Given the description of an element on the screen output the (x, y) to click on. 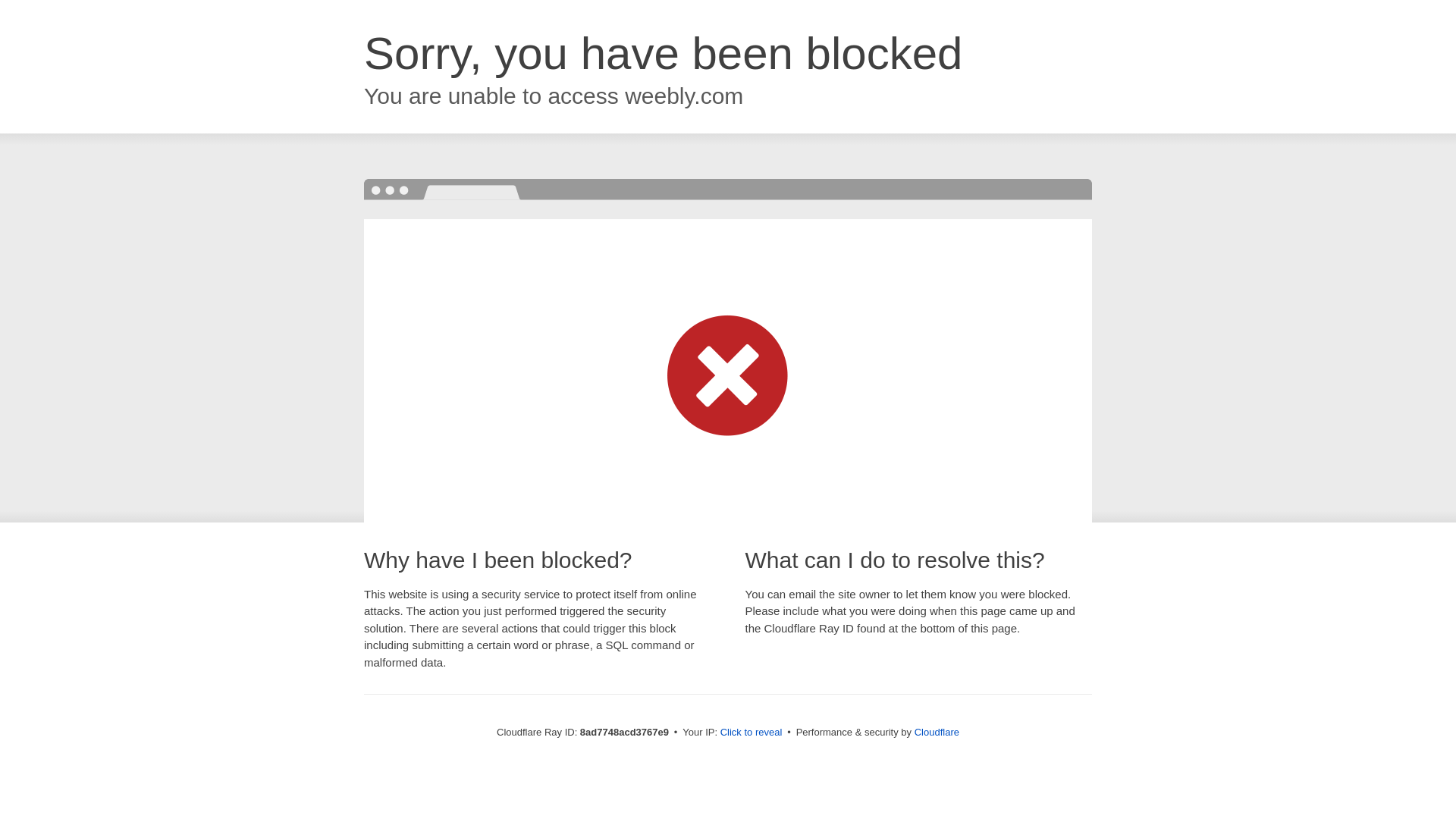
Cloudflare (936, 731)
Click to reveal (751, 732)
